Given the description of an element on the screen output the (x, y) to click on. 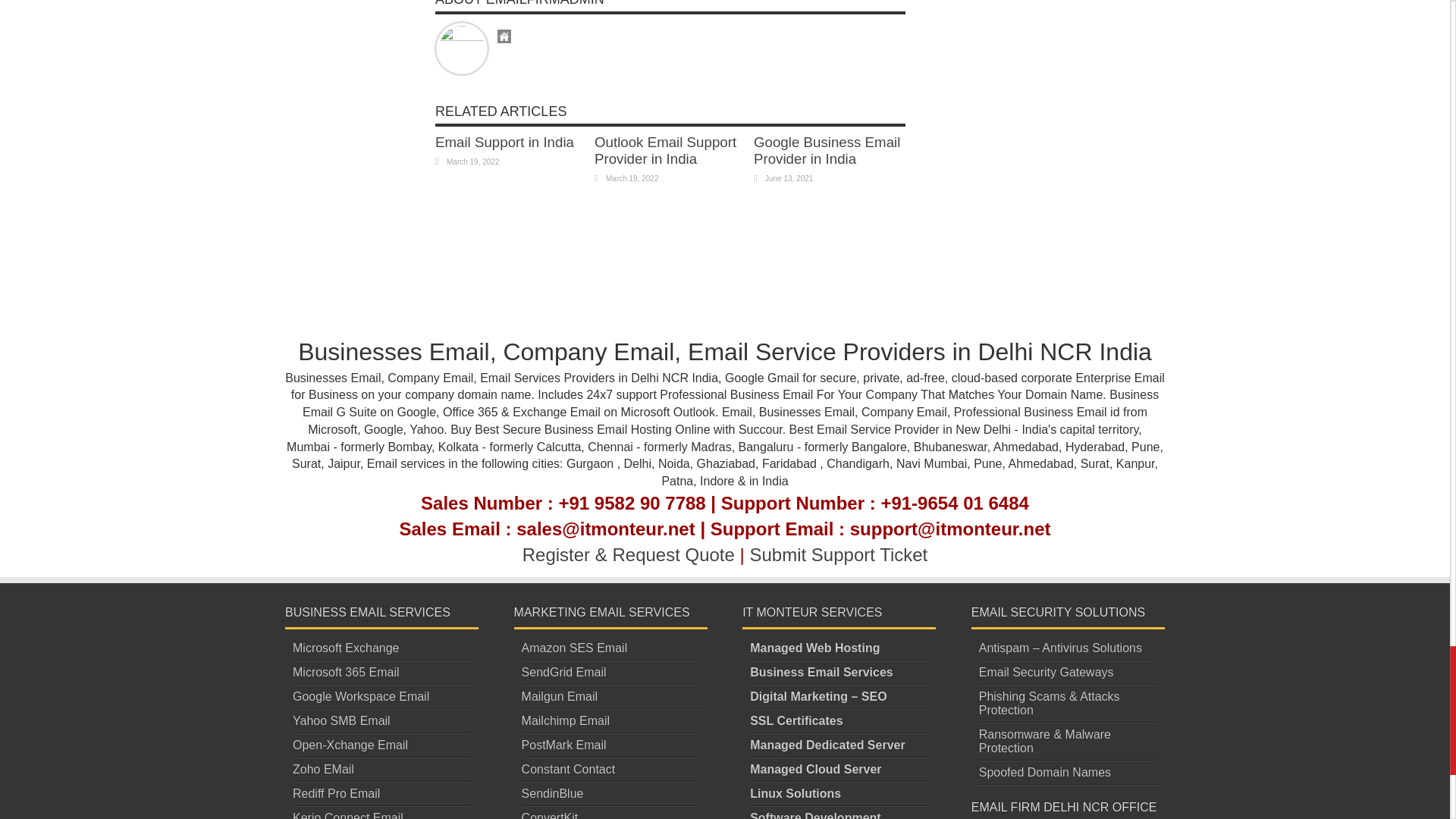
Permalink to Outlook Email Support Provider in India (665, 150)
Permalink to Email Support in India (504, 141)
SEO Company in Delhi, India (817, 696)
Managed Web Hosting Provider in India (814, 647)
Business Email Provider in India (821, 671)
Permalink to Google Business Email Provider in India (826, 150)
